Given the description of an element on the screen output the (x, y) to click on. 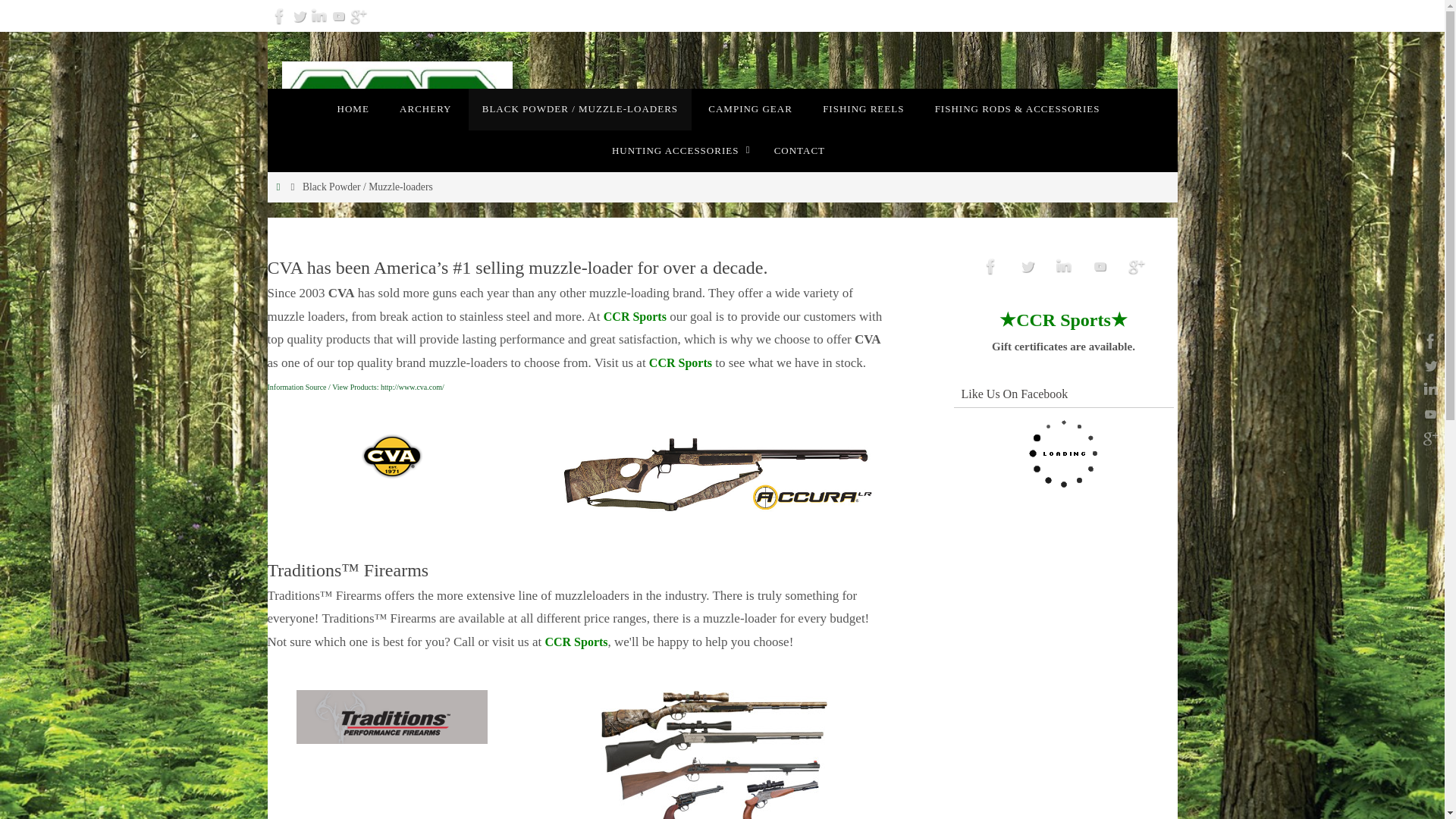
HUNTING ACCESSORIES (677, 150)
Facebook (991, 266)
CAMPING GEAR (750, 109)
ARCHERY (424, 109)
GooglePlus (357, 15)
CONTACT (799, 150)
LinkedIn (317, 15)
YouTube (338, 15)
Twitter (298, 15)
Facebook (278, 15)
